Given the description of an element on the screen output the (x, y) to click on. 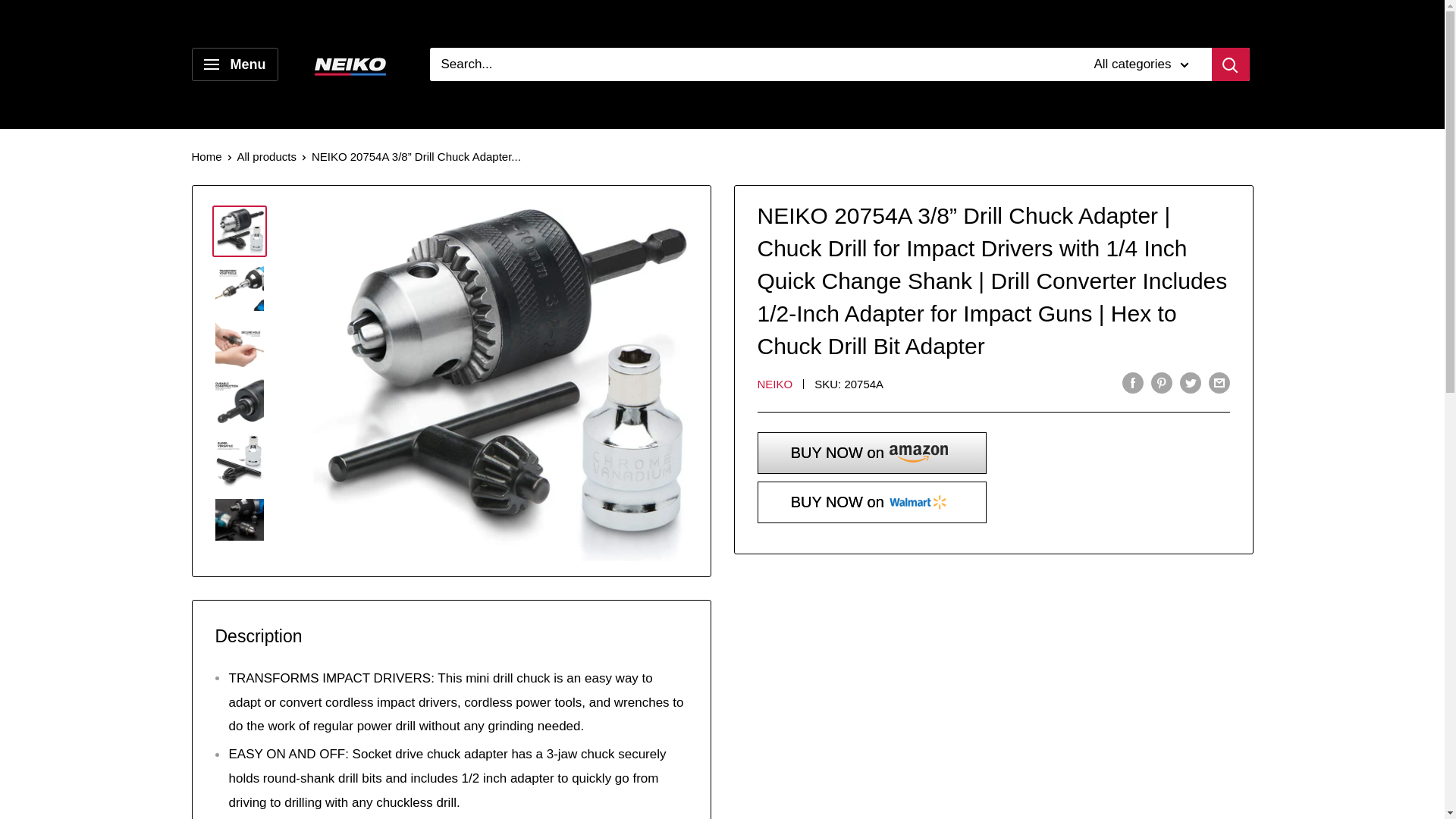
Menu (234, 64)
NEIKO (774, 383)
All products (267, 155)
BUY NOW on (872, 453)
Home (205, 155)
